Given the description of an element on the screen output the (x, y) to click on. 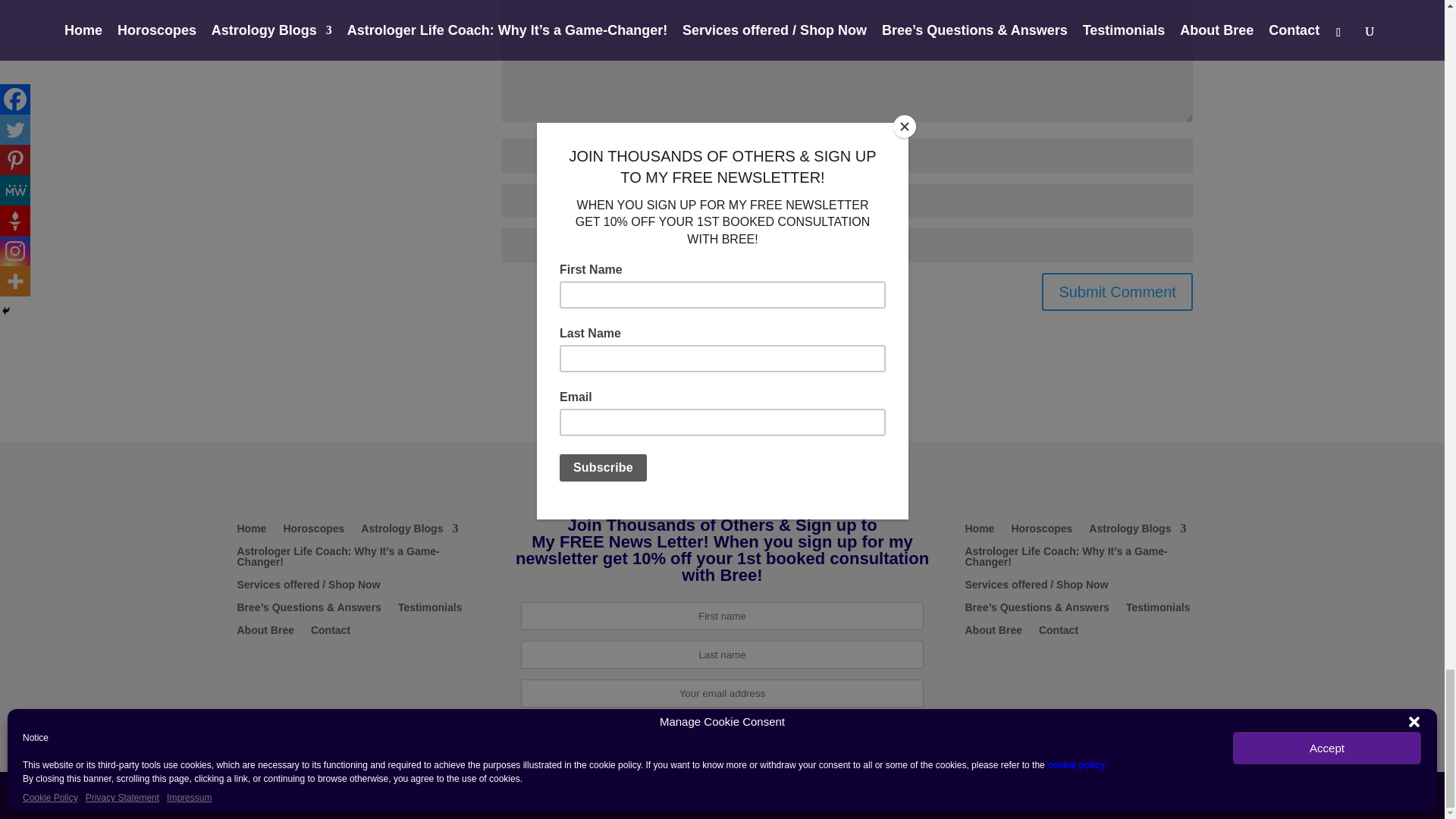
Sign up (722, 732)
